Given the description of an element on the screen output the (x, y) to click on. 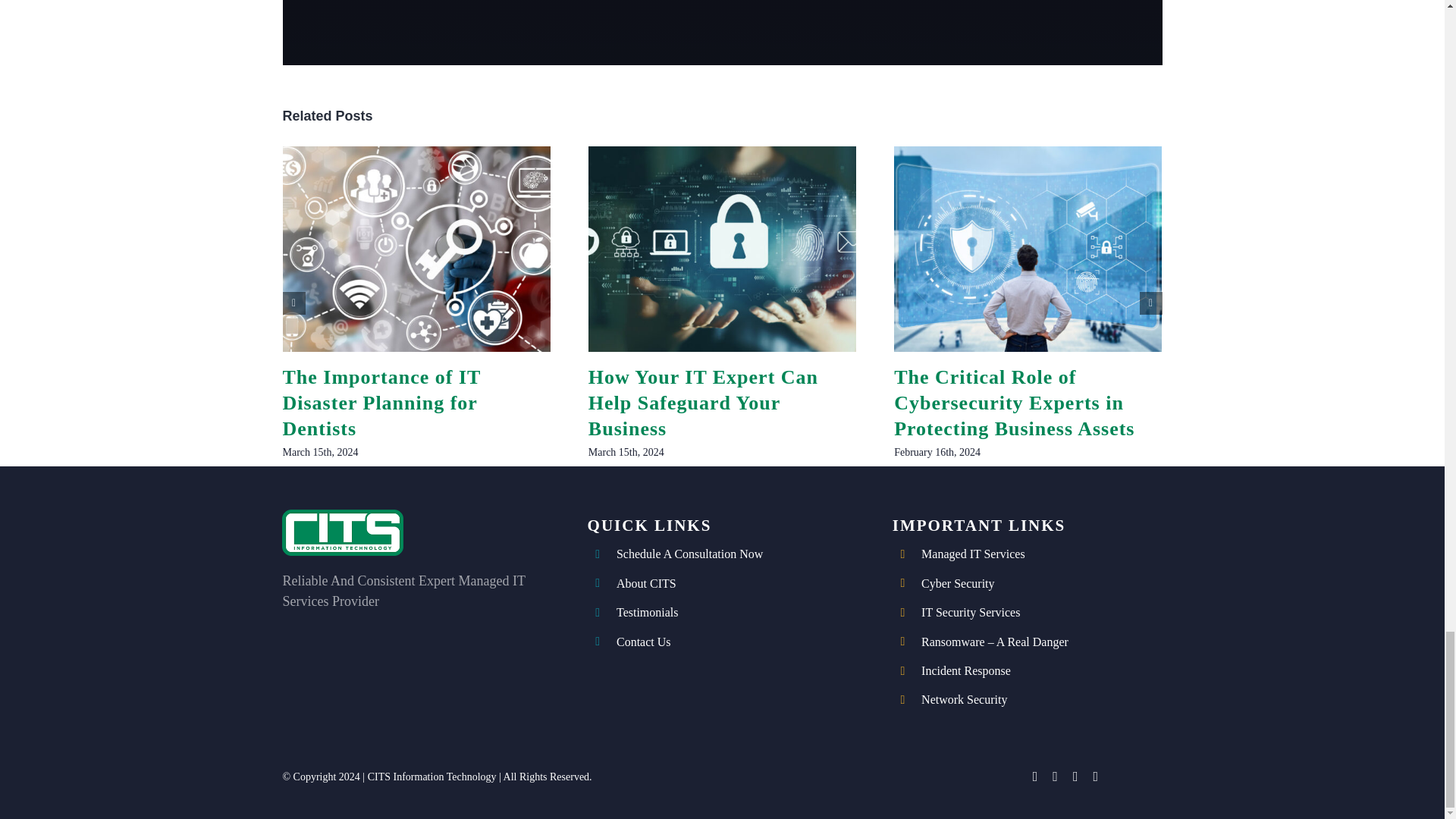
How Your IT Expert Can Help Safeguard Your Business (703, 402)
The Importance of IT Disaster Planning for Dentists (381, 402)
